Given the description of an element on the screen output the (x, y) to click on. 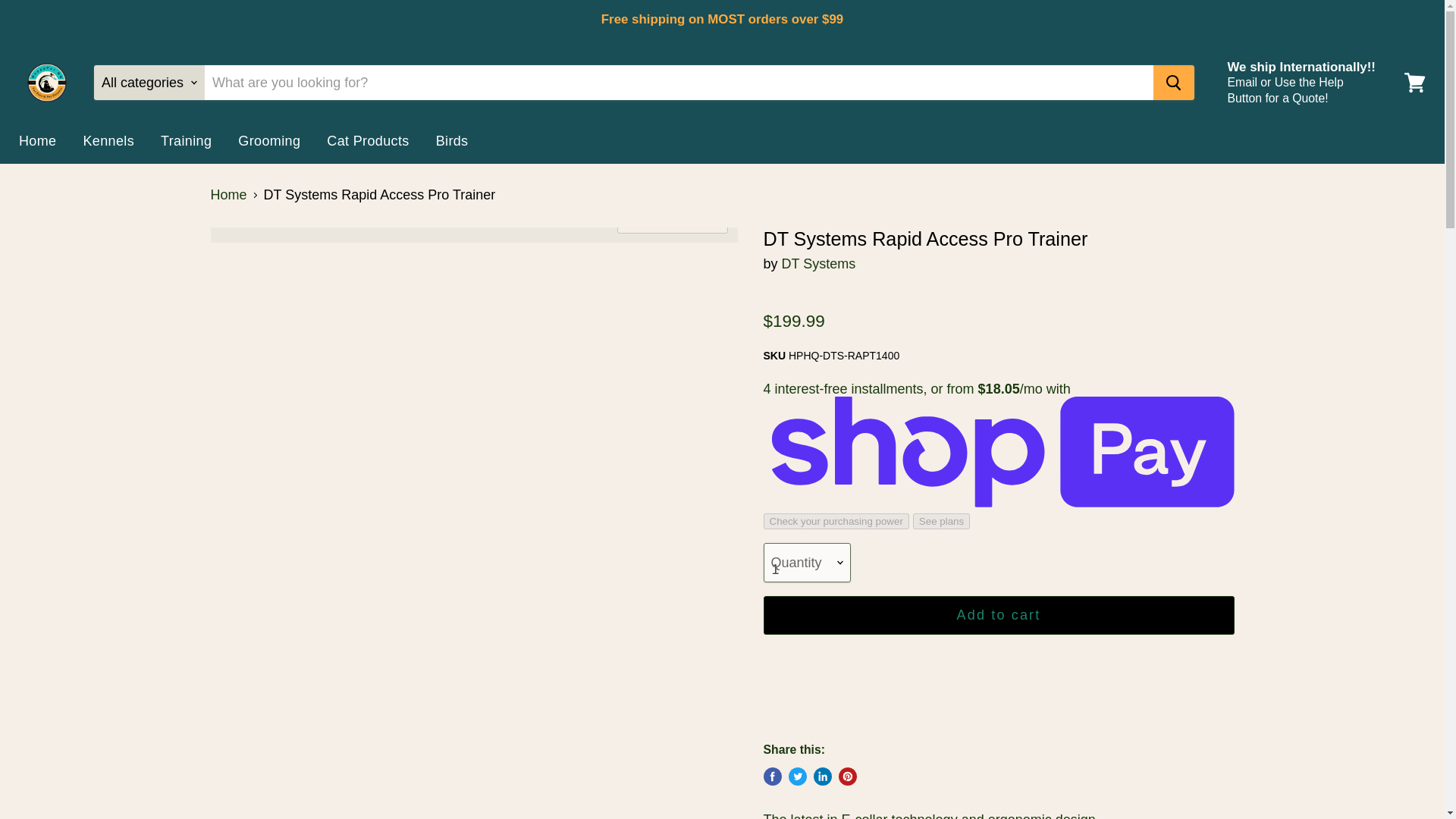
Pin on Pinterest (847, 776)
Share on LinkedIn (821, 776)
Add to cart (997, 615)
Share on Facebook (771, 776)
Training (185, 141)
Cat Products (367, 141)
Birds (452, 141)
Kennels (108, 141)
View cart (1414, 82)
DT Systems (818, 263)
Grooming (269, 141)
Tweet on Twitter (797, 776)
DT Systems (818, 263)
Home (36, 141)
Click to expand (672, 220)
